Given the description of an element on the screen output the (x, y) to click on. 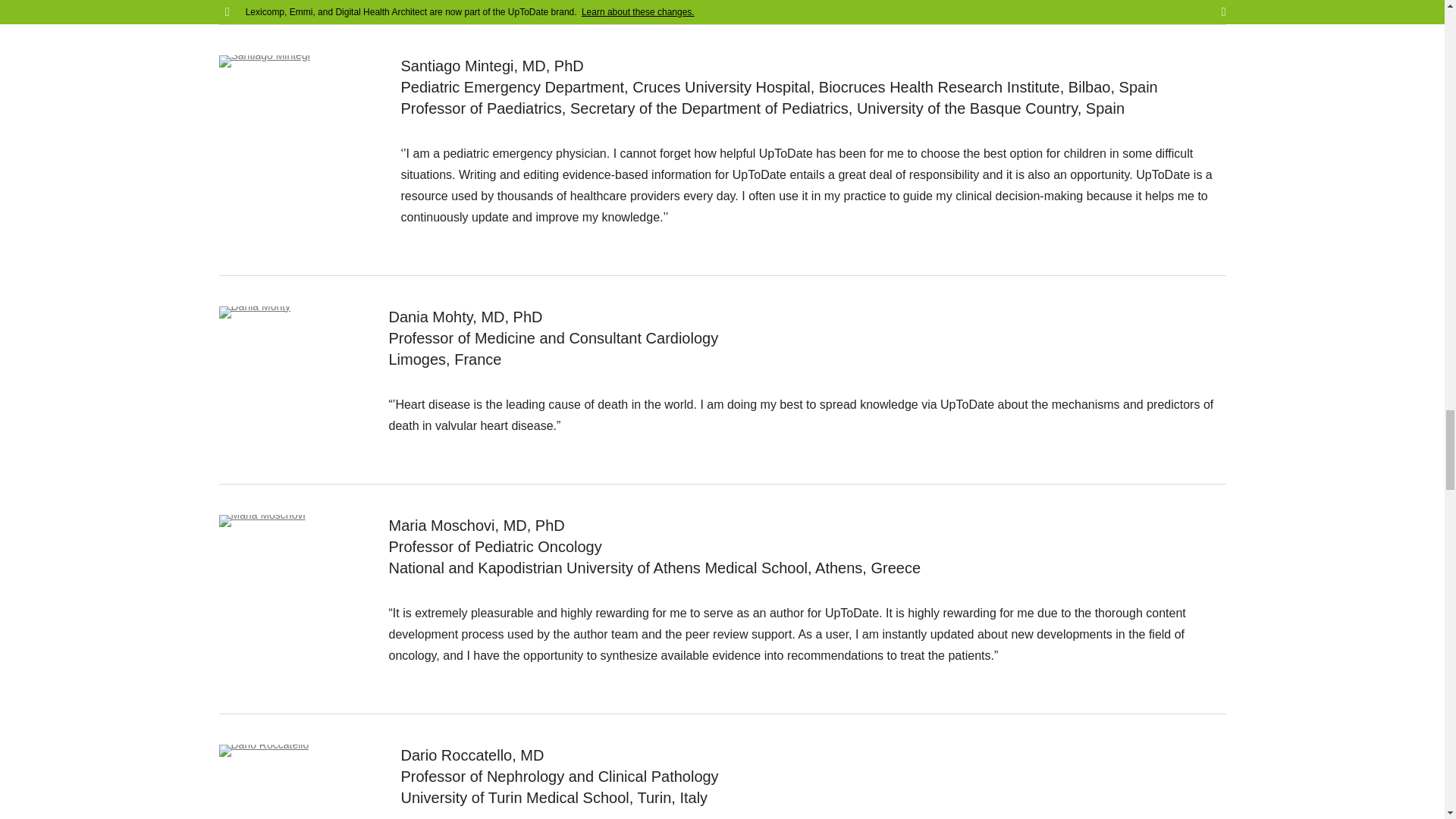
image-author-moschovi (261, 521)
image-author-mintegi (263, 61)
image-author-mohty (253, 312)
